Given the description of an element on the screen output the (x, y) to click on. 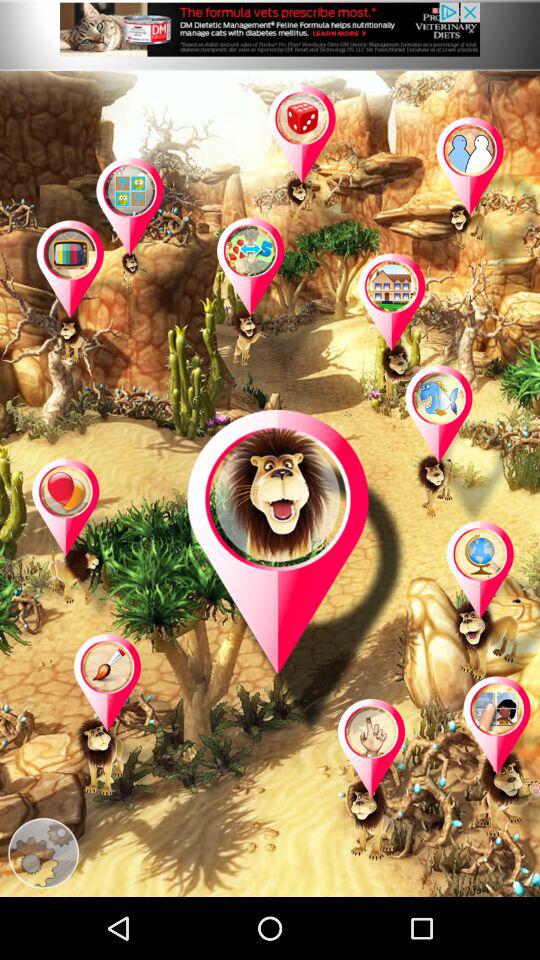
open location (91, 302)
